Given the description of an element on the screen output the (x, y) to click on. 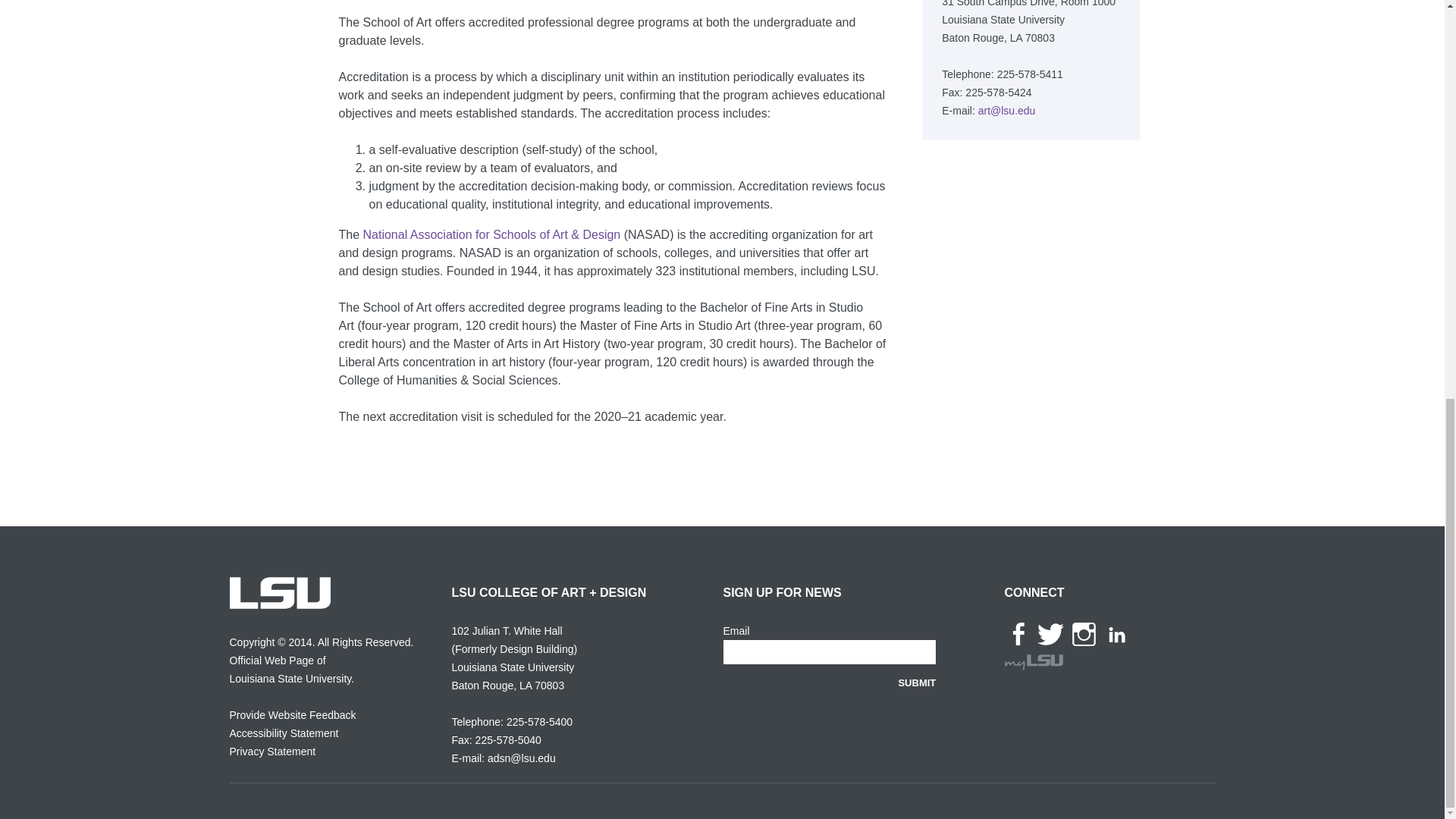
NASAD Home (491, 234)
Submit (917, 682)
